Given the description of an element on the screen output the (x, y) to click on. 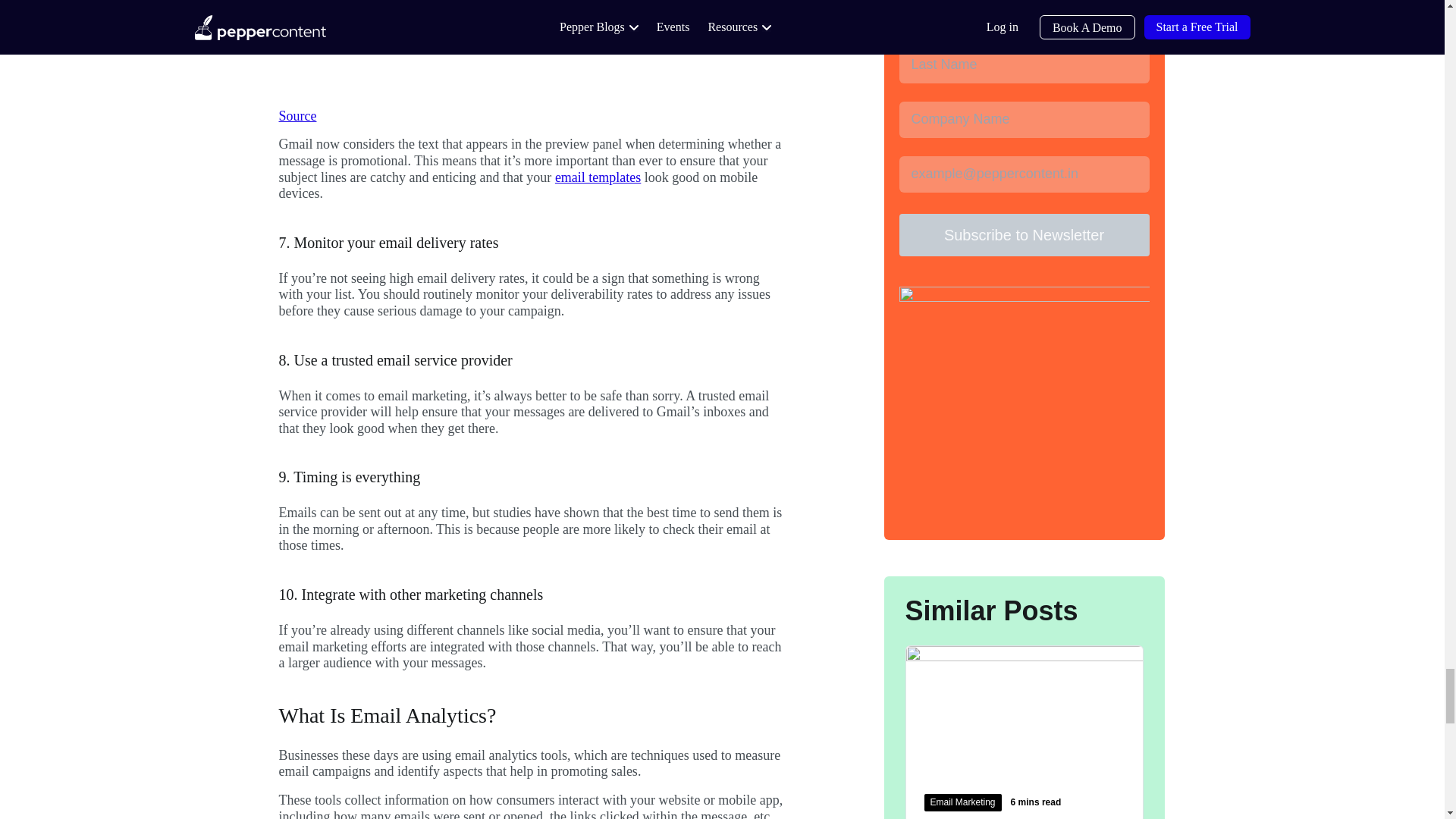
Source (298, 115)
